Given the description of an element on the screen output the (x, y) to click on. 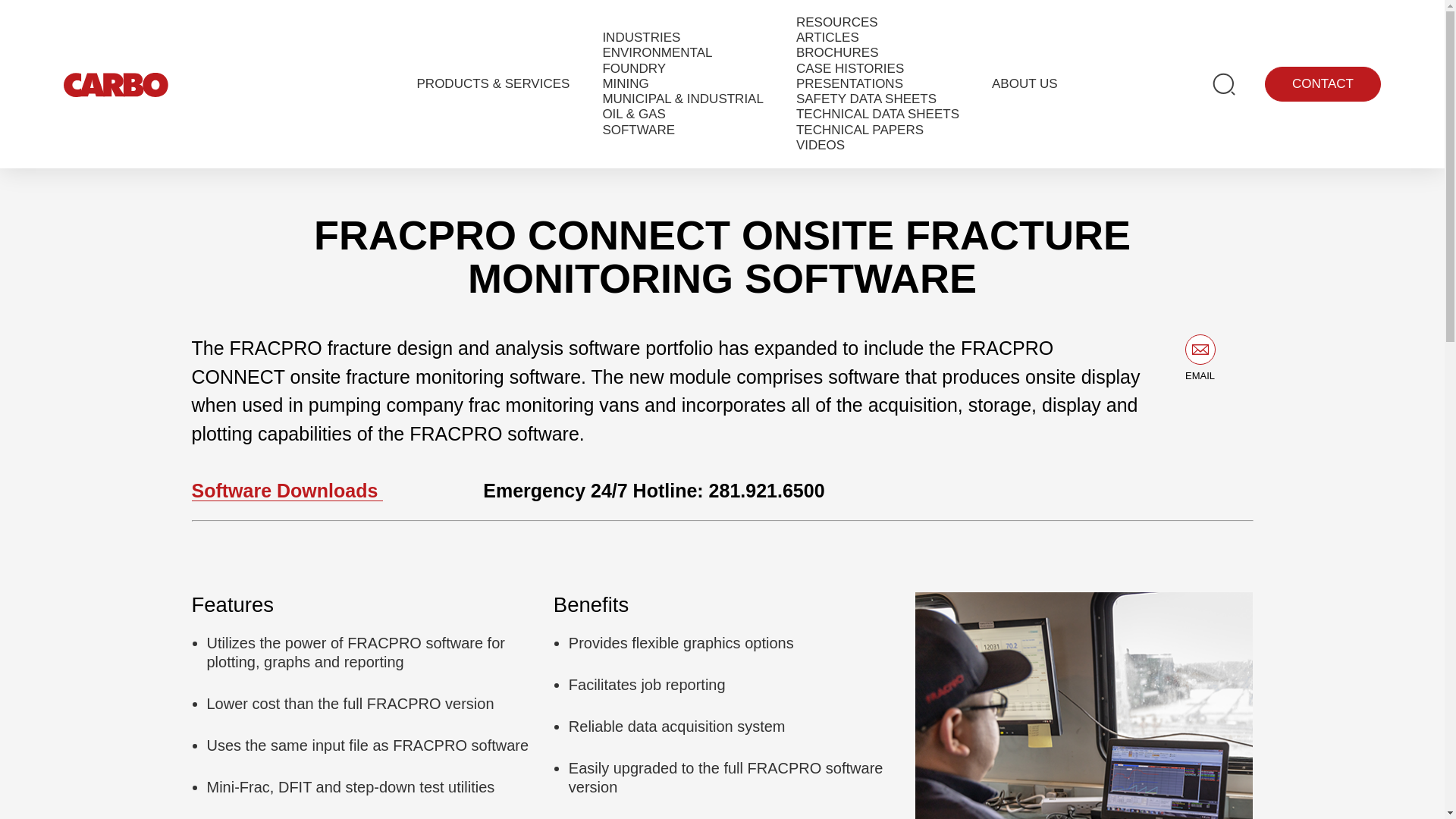
TECHNICAL DATA SHEETS (877, 114)
TECHNICAL PAPERS (859, 130)
RESOURCES (836, 22)
ENVIRONMENTAL (656, 52)
INDUSTRIES (640, 37)
VIDEOS (820, 145)
Software Downloads (286, 490)
BROCHURES (837, 52)
SAFETY DATA SHEETS (866, 99)
ABOUT US (1024, 83)
CASE HISTORIES (850, 68)
FOUNDRY (633, 68)
ARTICLES (827, 37)
PRESENTATIONS (849, 83)
MINING (624, 83)
